Given the description of an element on the screen output the (x, y) to click on. 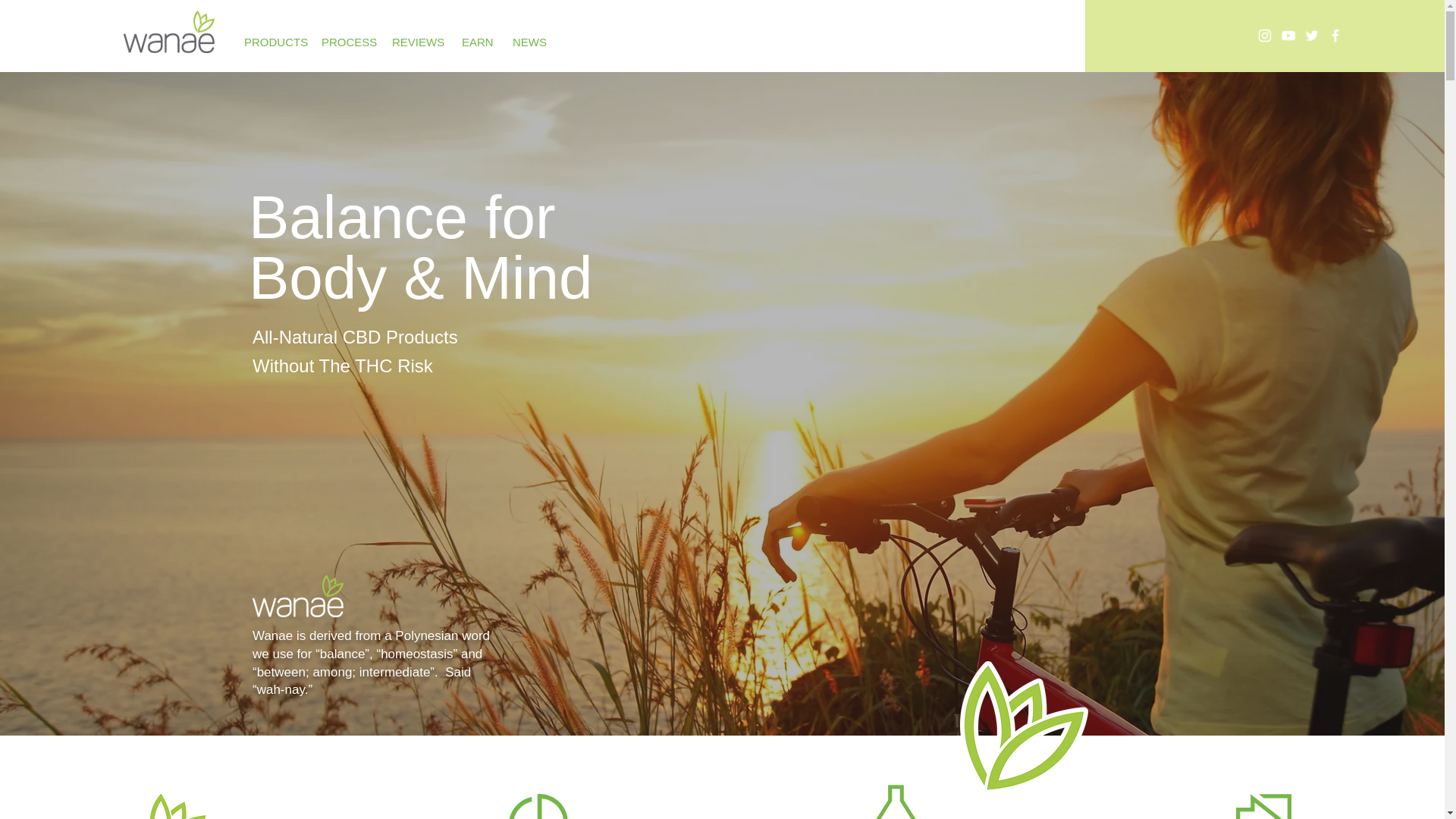
EARN (474, 42)
PRODUCTS (271, 42)
PROCESS (345, 42)
REVIEWS (414, 42)
NEWS (527, 42)
